Given the description of an element on the screen output the (x, y) to click on. 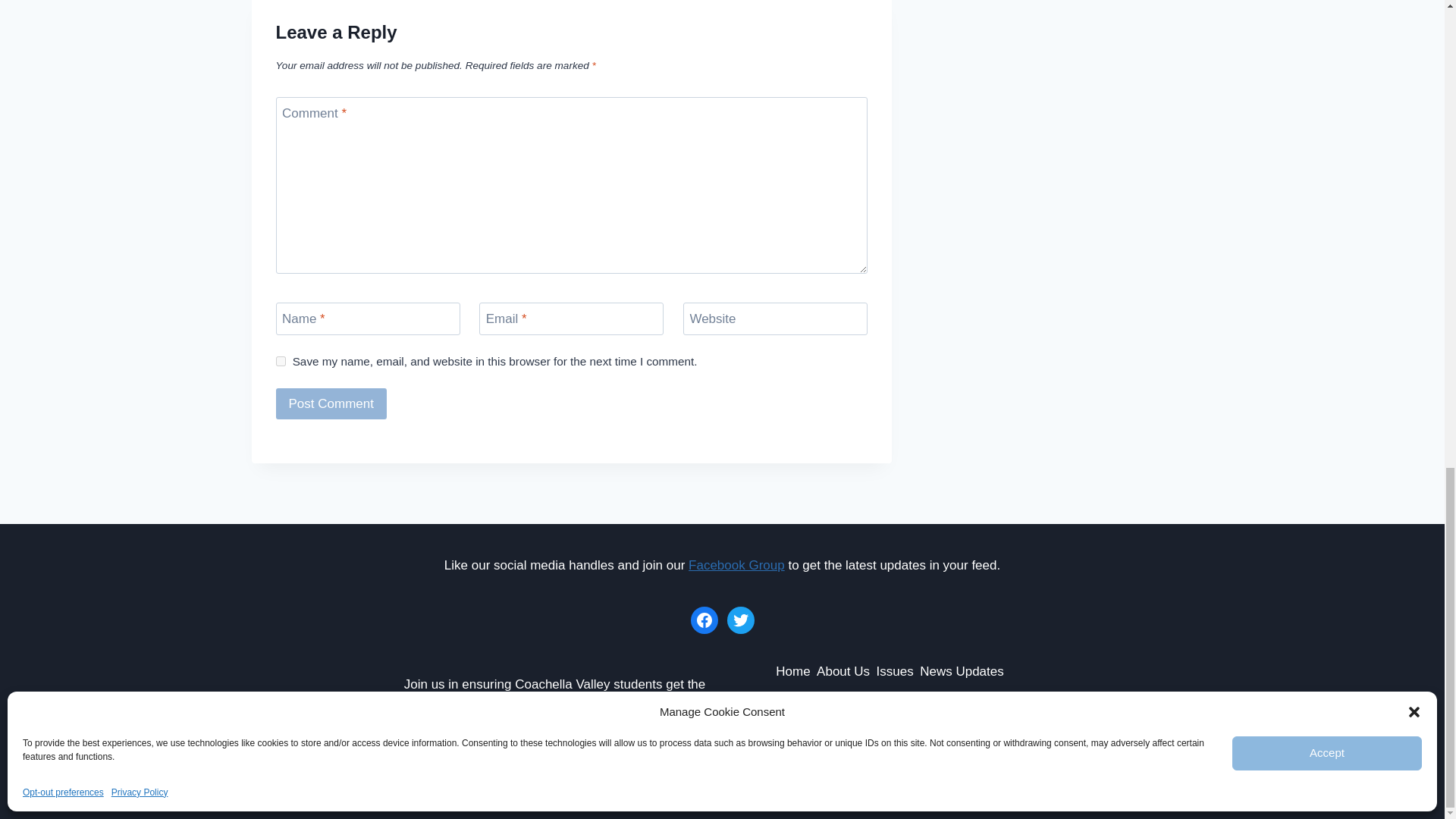
Post Comment (331, 403)
yes (280, 361)
